Given the description of an element on the screen output the (x, y) to click on. 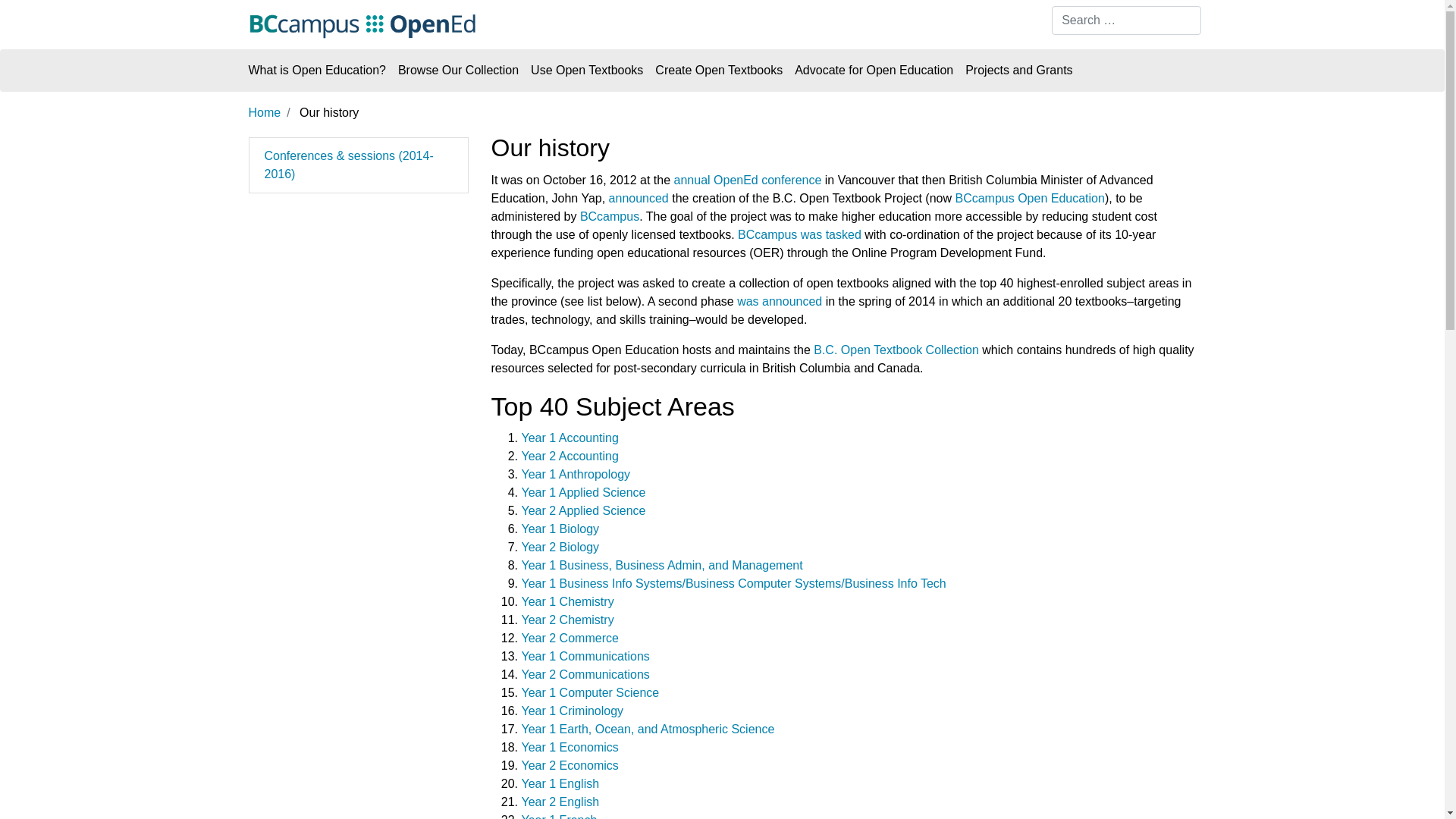
BCcampus Element type: text (609, 216)
Year 2 English Element type: text (560, 801)
Year 1 Business, Business Admin, and Management Element type: text (662, 564)
Year 1 Earth, Ocean, and Atmospheric Science Element type: text (648, 728)
B.C. Open Textbook Collection Element type: text (896, 349)
Use Open Textbooks Element type: text (586, 70)
Year 1 English Element type: text (560, 783)
BCcampus Open Education Element type: text (1029, 197)
Projects and Grants Element type: text (1018, 70)
Year 2 Communications Element type: text (585, 674)
What is Open Education? Element type: text (320, 70)
Year 2 Chemistry Element type: text (567, 619)
Advocate for Open Education Element type: text (873, 70)
Year 2 Commerce Element type: text (569, 637)
announced Element type: text (638, 197)
BCcampus was tasked Element type: text (799, 234)
Search Element type: text (29, 14)
Year 1 Anthropology Element type: text (575, 473)
Year 1 Economics Element type: text (569, 746)
Year 1 Chemistry Element type: text (567, 601)
Year 1 Applied Science Element type: text (583, 492)
Year 1 Communications Element type: text (585, 655)
Year 1 Accounting Element type: text (569, 437)
Year 1 Biology Element type: text (560, 528)
Year 2 Biology Element type: text (560, 546)
Create Open Textbooks Element type: text (718, 70)
annual OpenEd conference Element type: text (748, 179)
Year 1 Computer Science Element type: text (590, 692)
Home Element type: text (264, 112)
was announced Element type: text (779, 300)
Year 2 Economics Element type: text (569, 765)
Year 1 Criminology Element type: text (572, 710)
Conferences & sessions (2014-2016) Element type: text (348, 164)
Year 2 Applied Science Element type: text (583, 510)
Year 2 Accounting Element type: text (569, 455)
Browse Our Collection Element type: text (458, 70)
